Given the description of an element on the screen output the (x, y) to click on. 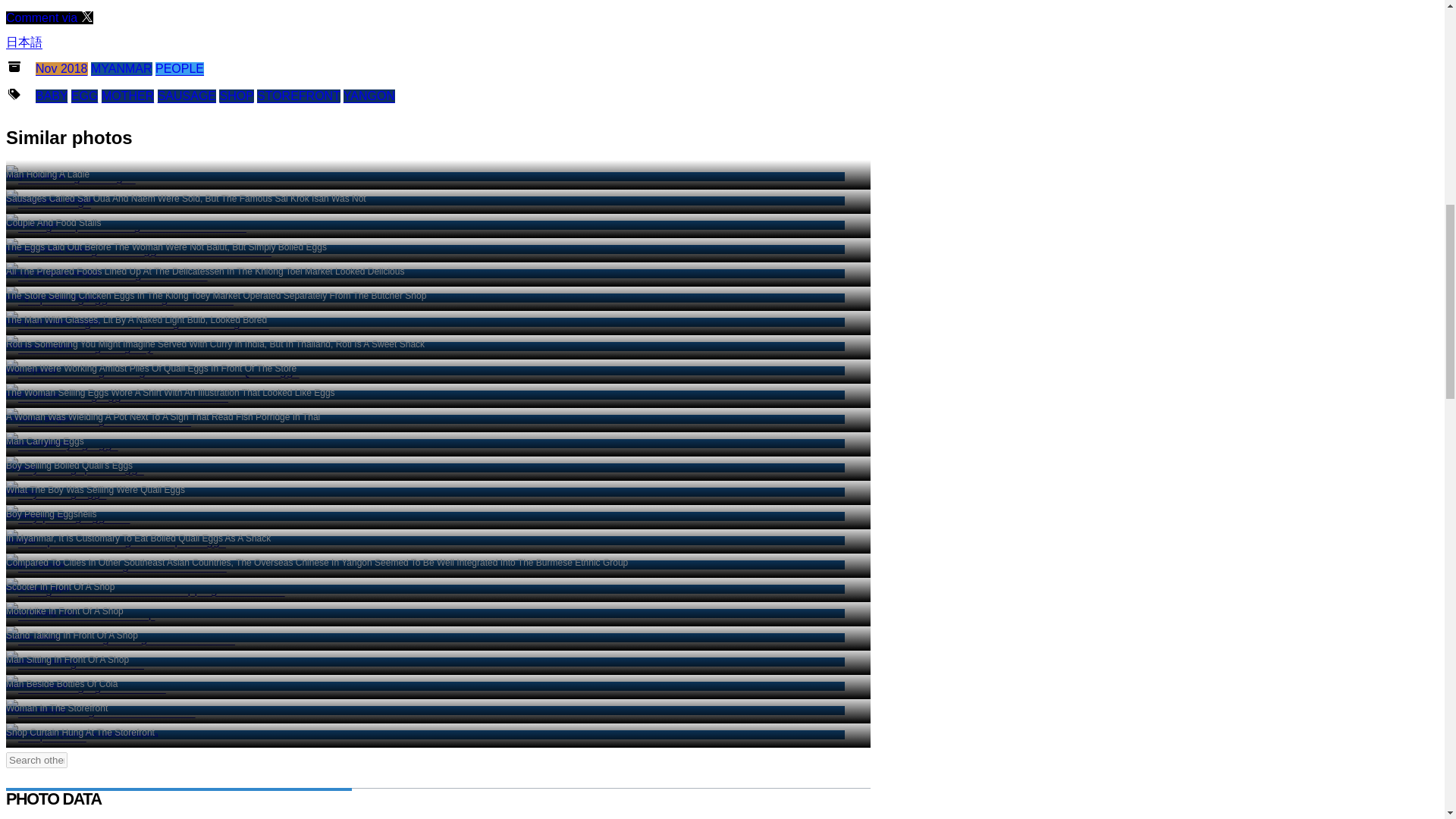
Comment via (49, 17)
Photos Tagged with BABY (50, 95)
EGG (70, 176)
PEOPLE (85, 95)
STOREFRONT (179, 68)
MYANMAR (298, 95)
YANGON (121, 68)
Photos Tagged with SAUSAGE (368, 95)
